Given the description of an element on the screen output the (x, y) to click on. 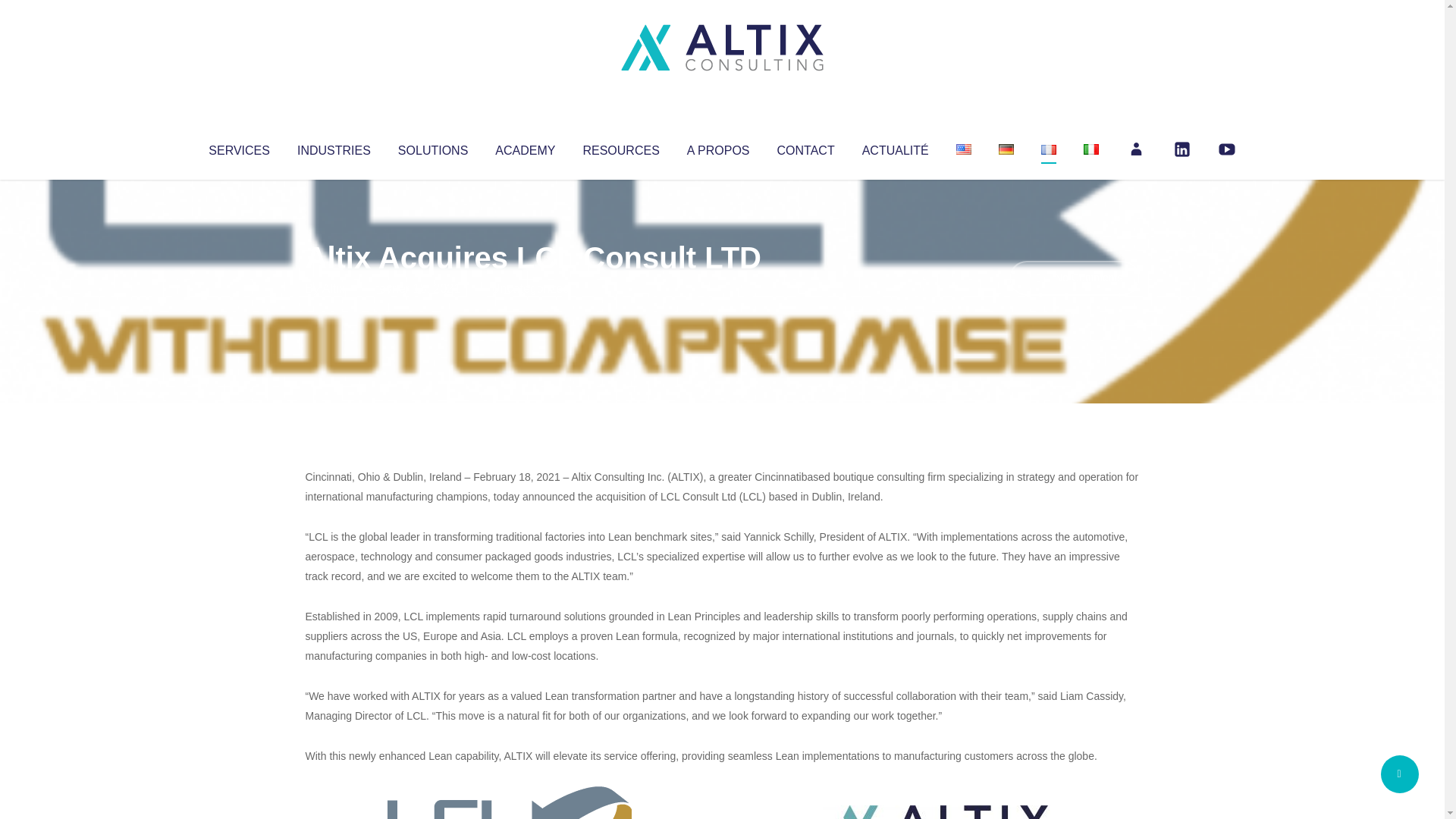
Altix (333, 287)
No Comments (1073, 278)
INDUSTRIES (334, 146)
Articles par Altix (333, 287)
A PROPOS (718, 146)
ACADEMY (524, 146)
SERVICES (238, 146)
SOLUTIONS (432, 146)
Uncategorized (530, 287)
RESOURCES (620, 146)
